Given the description of an element on the screen output the (x, y) to click on. 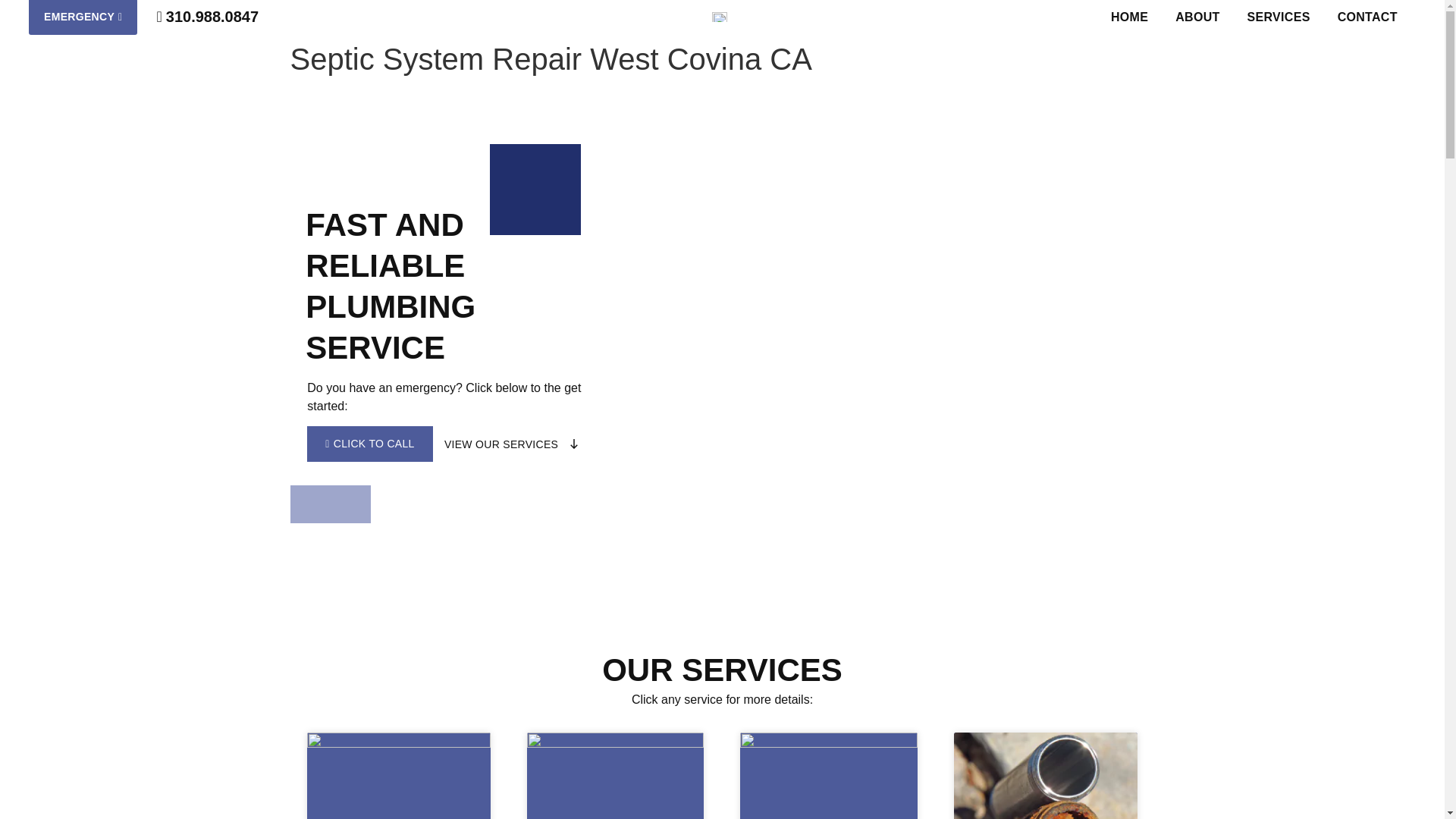
CLICK TO CALL (369, 443)
EMERGENCY (82, 17)
CONTACT (1366, 17)
ABOUT (1197, 17)
HOME (1129, 17)
VIEW OUR SERVICES (511, 444)
SERVICES (1278, 17)
310.988.0847 (207, 16)
